Given the description of an element on the screen output the (x, y) to click on. 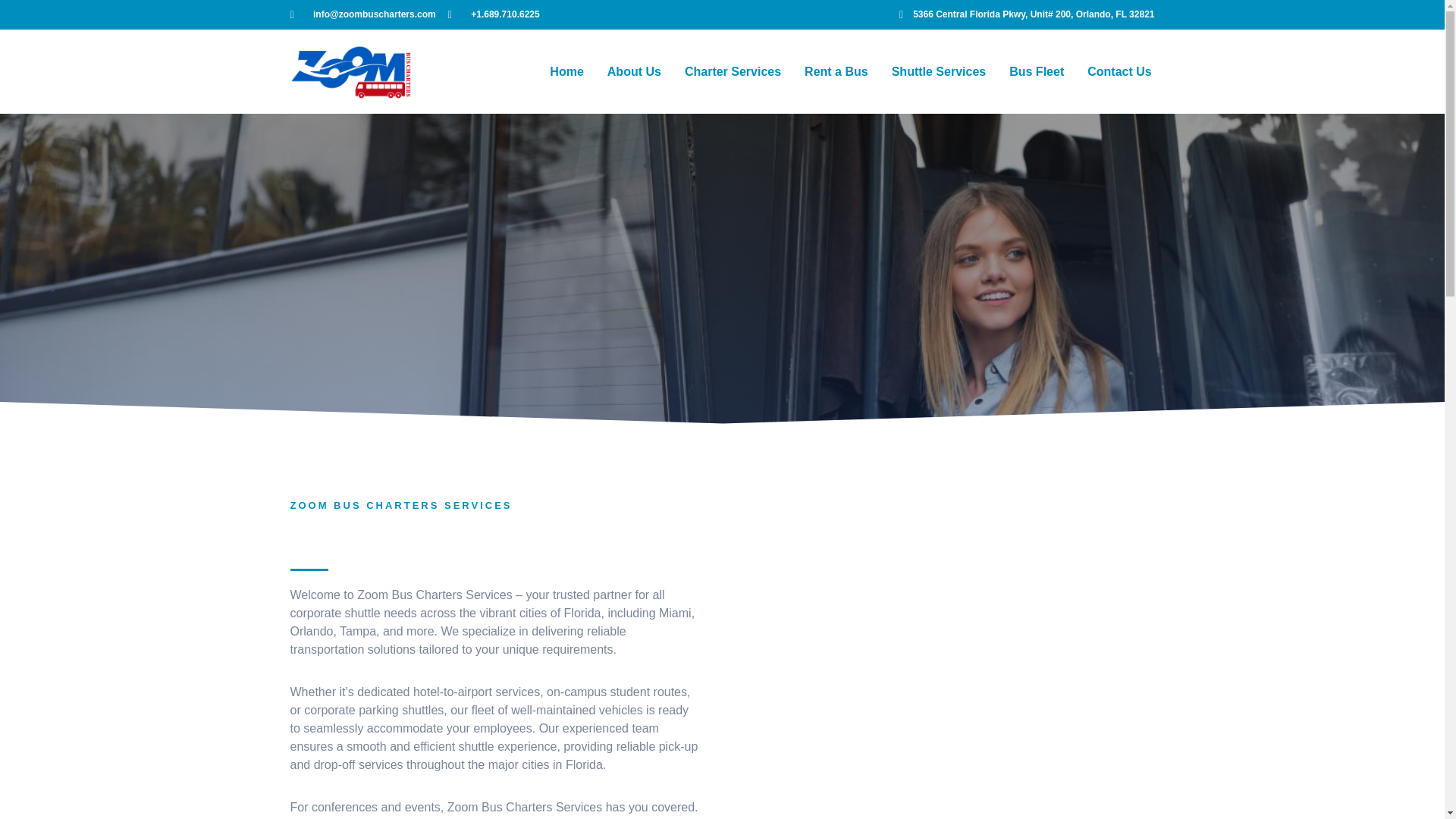
Home (566, 71)
Shuttle Services (939, 71)
Contact Us (1119, 71)
Bus Fleet (1036, 71)
Rent a Bus (836, 71)
Charter Services (732, 71)
About Us (634, 71)
